Given the description of an element on the screen output the (x, y) to click on. 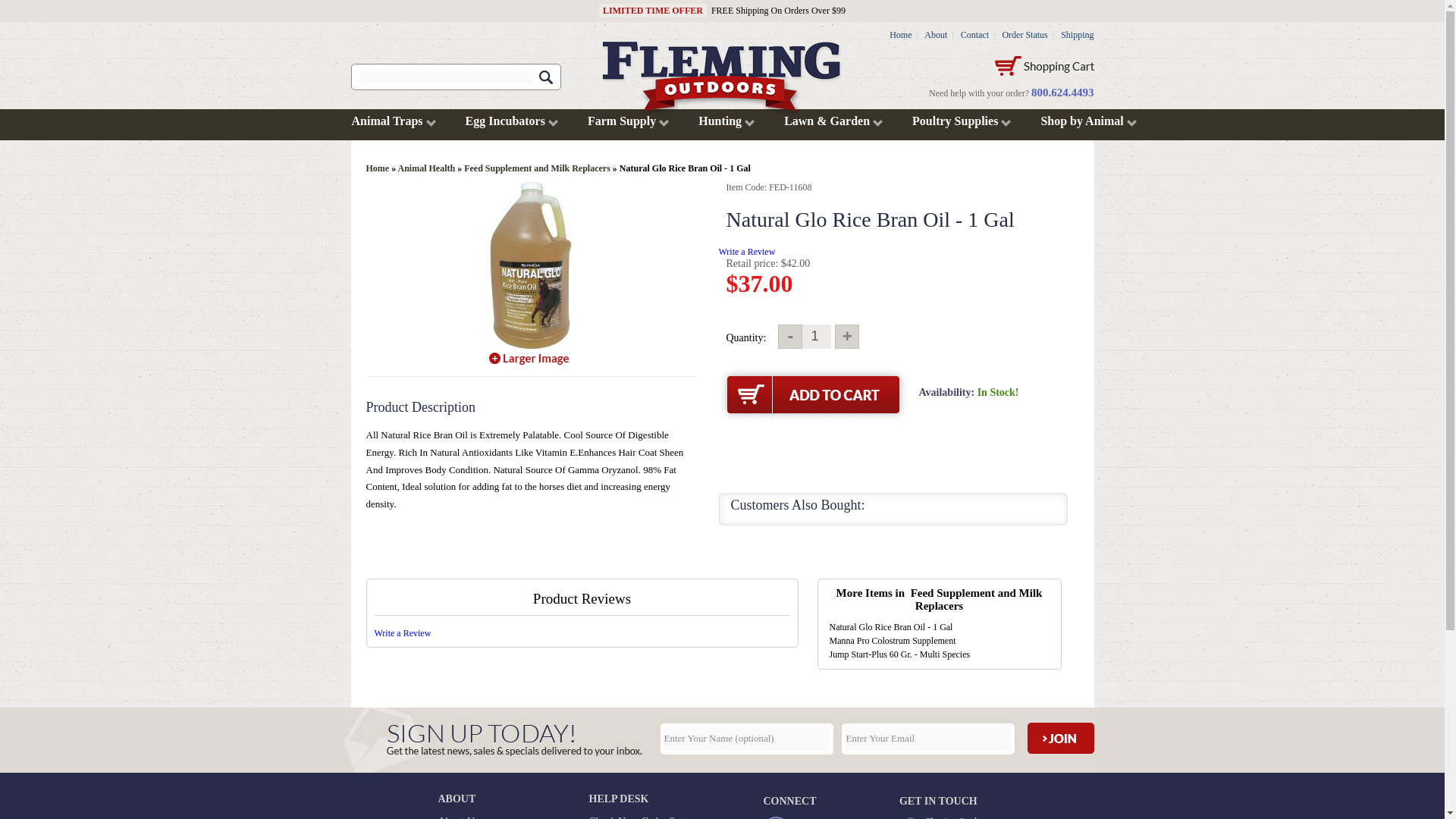
Egg Incubators (503, 120)
1 (814, 336)
Natural Glo Rice Bran Oil - 1 Gal (529, 358)
Natural Glo Rice Bran Oil - 1 Gal (530, 264)
Animal Traps (384, 120)
Order Status (1023, 34)
Shipping (1077, 34)
About (935, 34)
Home (900, 34)
Enter Your Email (927, 738)
